Given the description of an element on the screen output the (x, y) to click on. 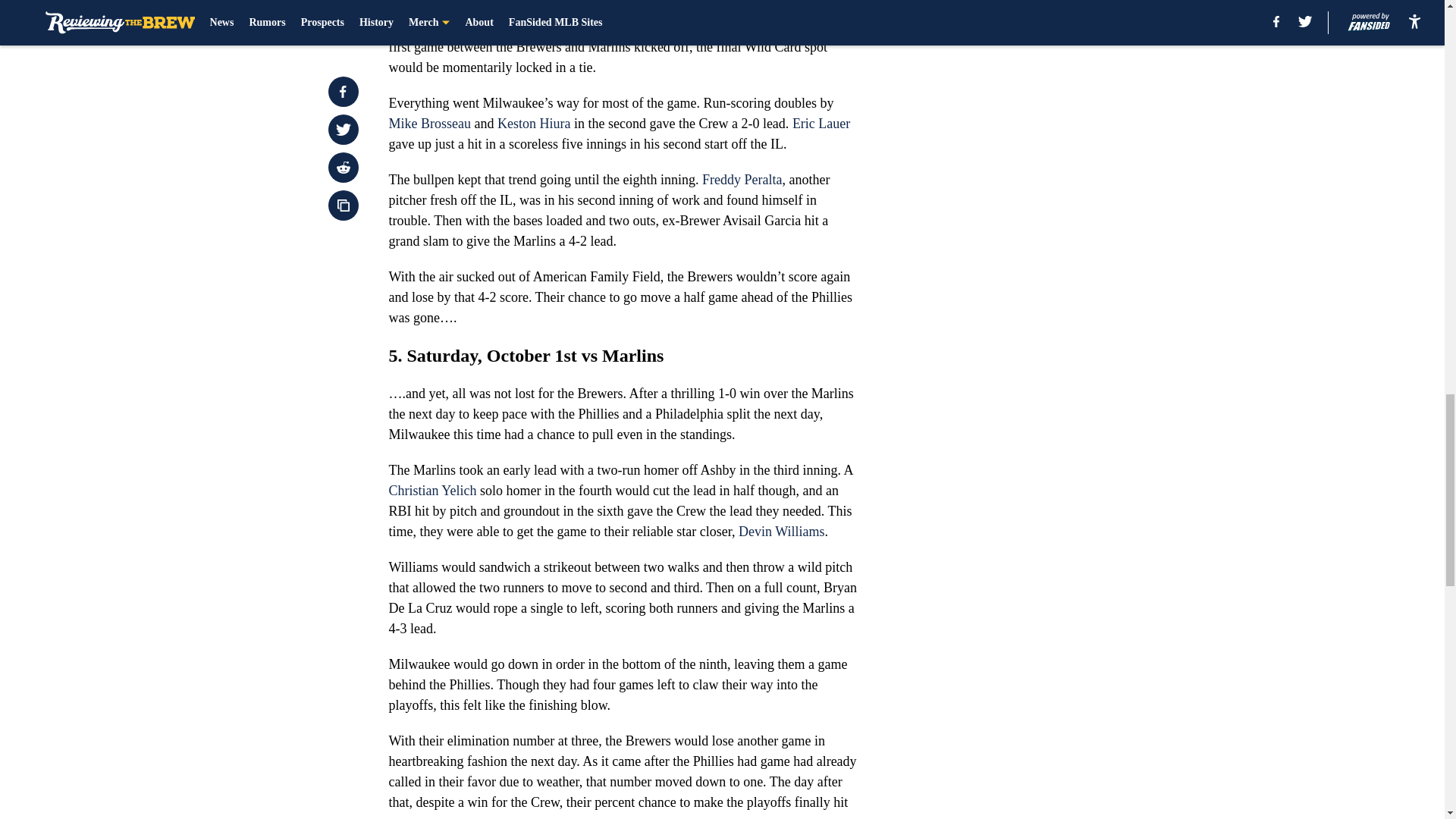
Mike Brosseau (429, 123)
Christian Yelich (432, 490)
Keston Hiura (533, 123)
Freddy Peralta (741, 179)
Eric Lauer (819, 123)
Devin Williams (781, 531)
